Given the description of an element on the screen output the (x, y) to click on. 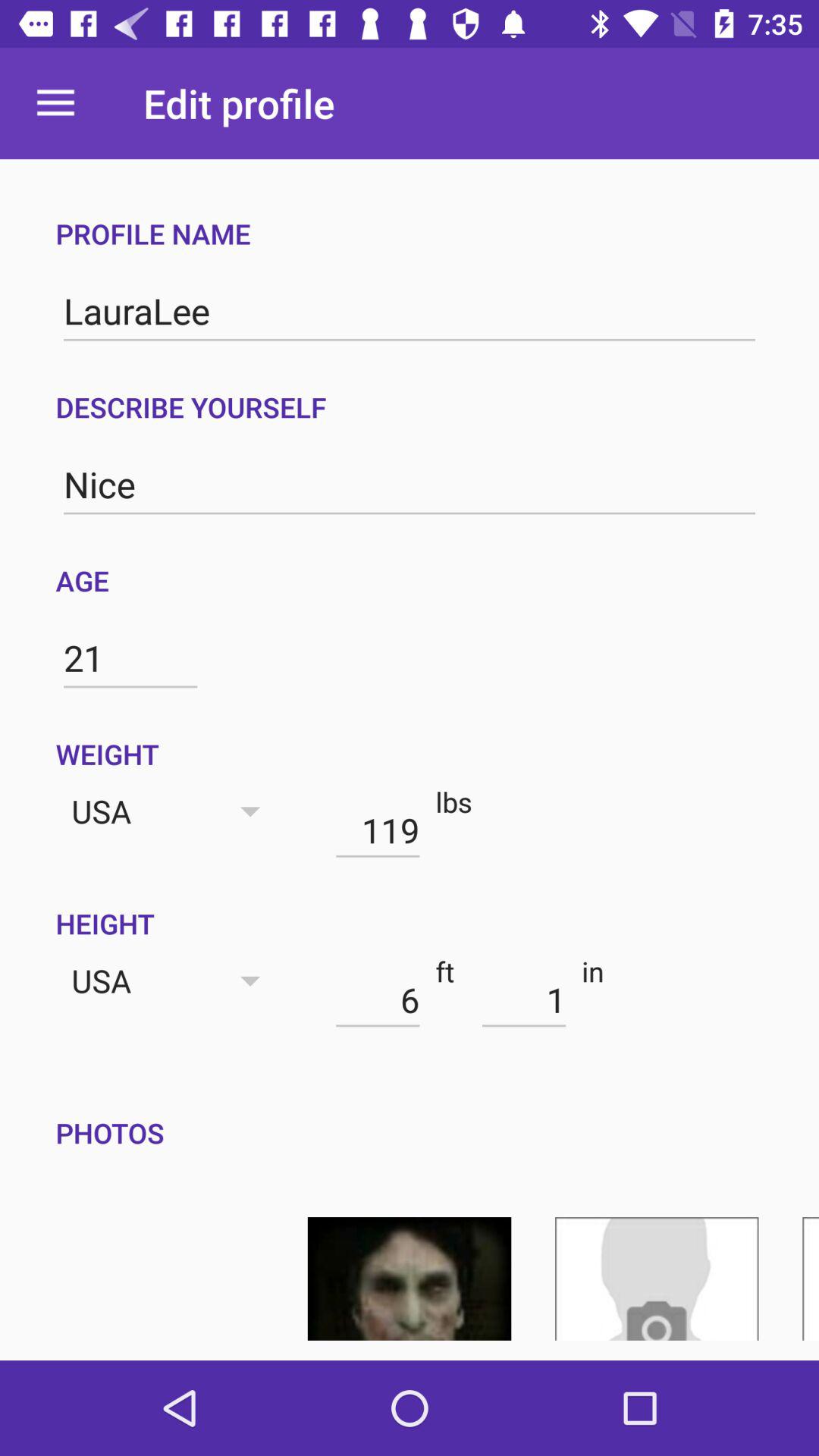
press the item below height icon (523, 999)
